Given the description of an element on the screen output the (x, y) to click on. 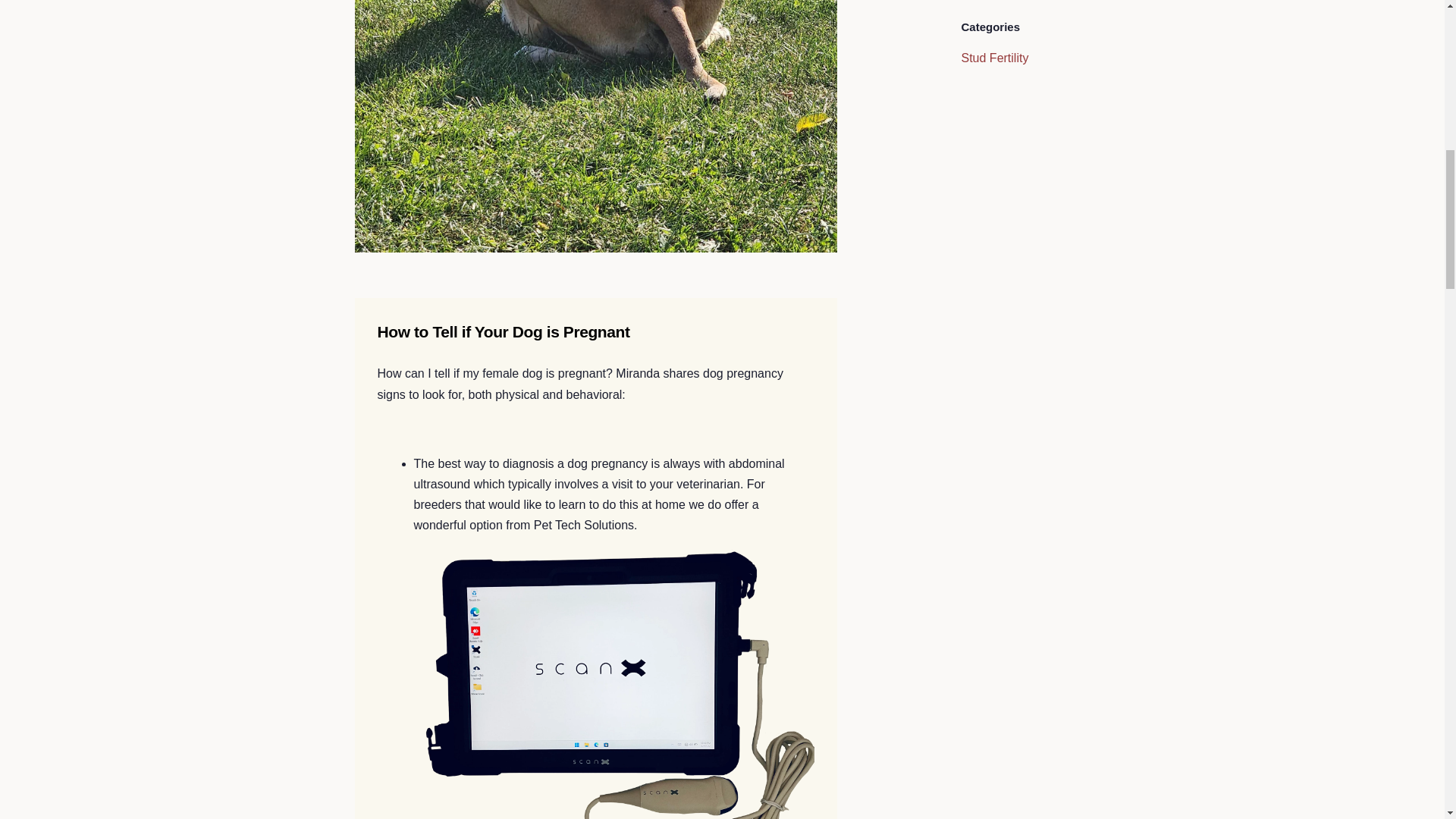
Show articles tagged Stud Fertility (994, 57)
